Given the description of an element on the screen output the (x, y) to click on. 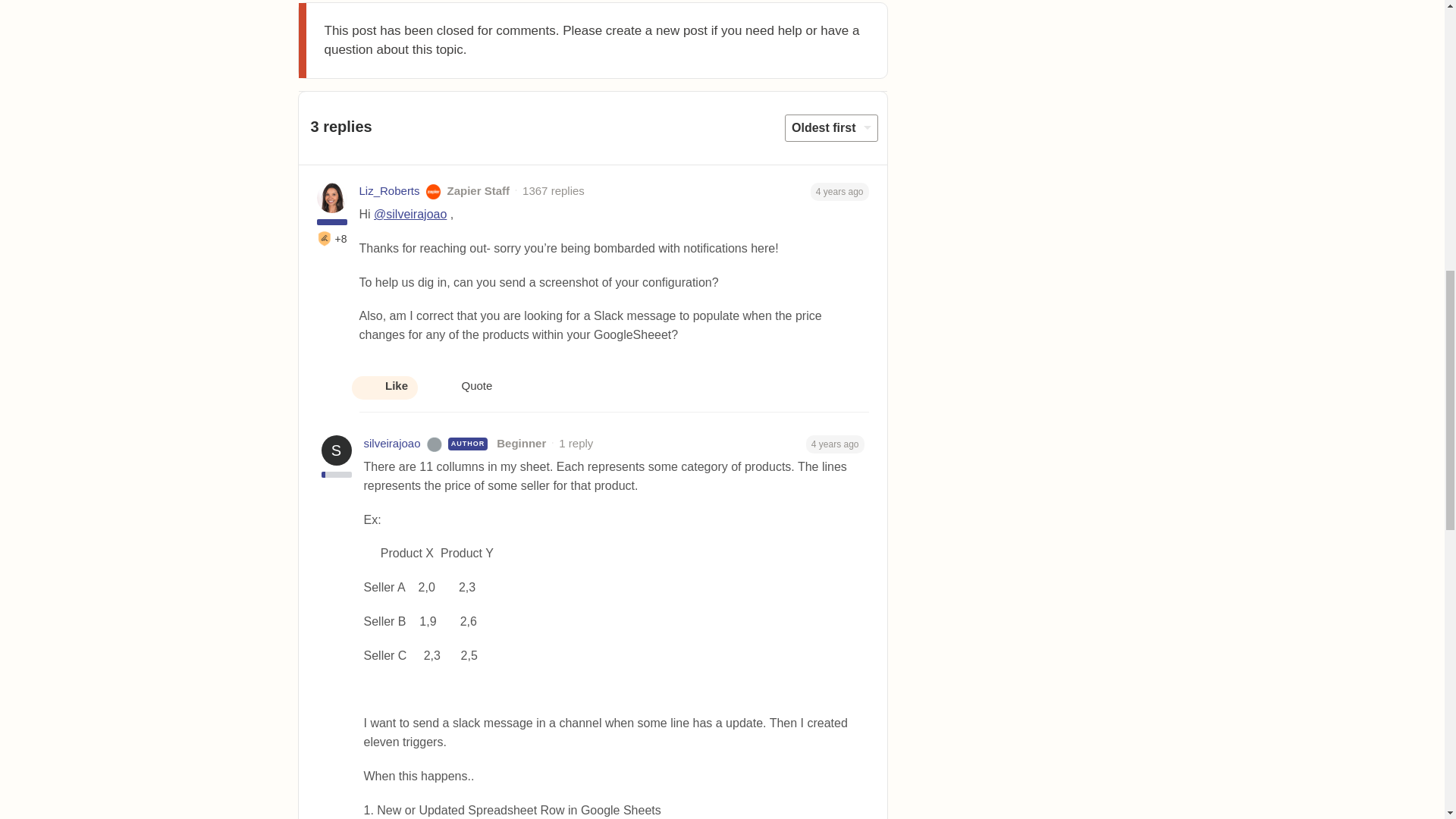
silveirajoao (392, 443)
First Best Answer (324, 238)
